Given the description of an element on the screen output the (x, y) to click on. 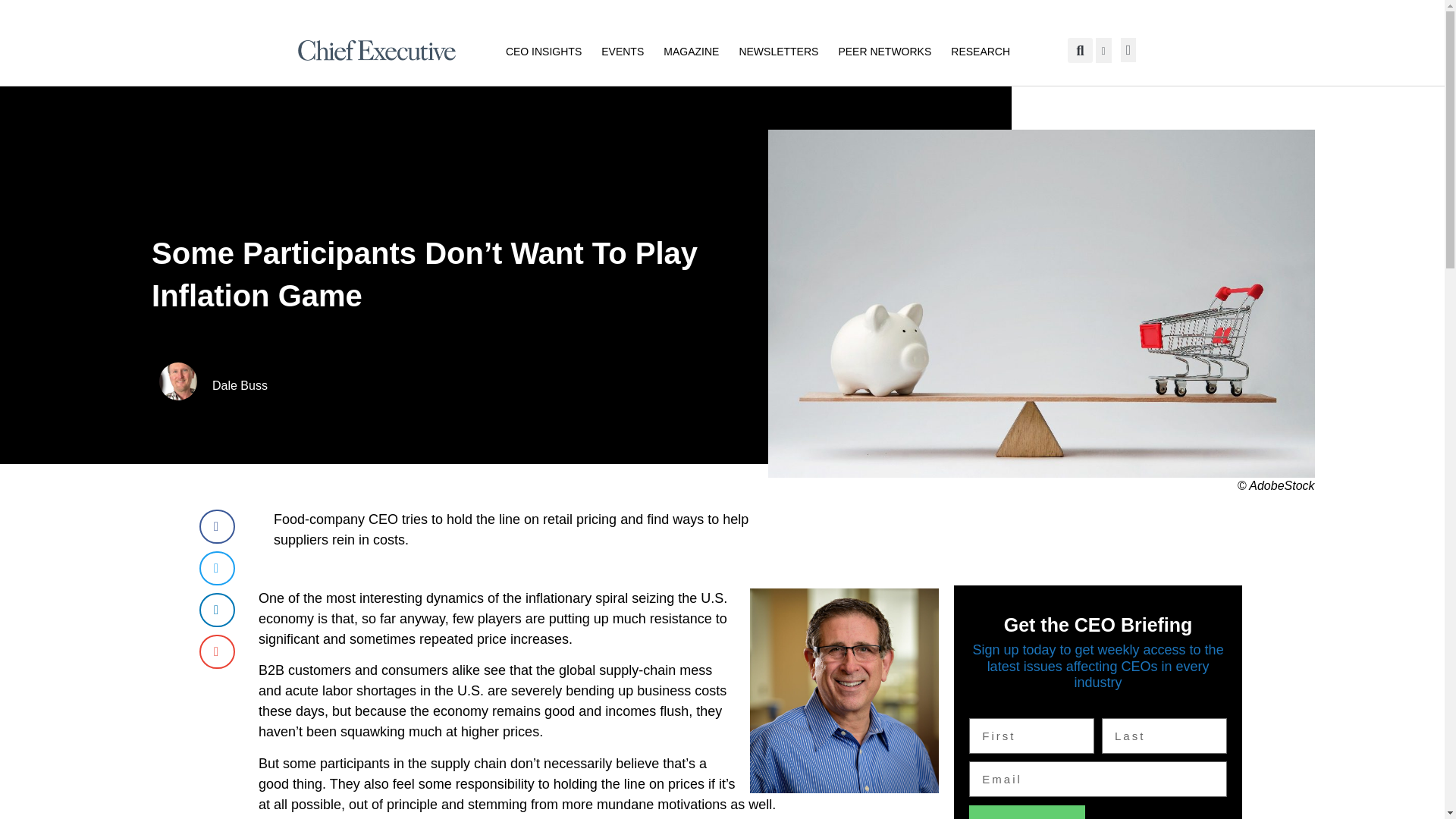
MAGAZINE (691, 50)
NEWSLETTERS (778, 50)
PEER NETWORKS (884, 50)
CEO INSIGHTS (543, 50)
RESEARCH (980, 50)
EVENTS (622, 50)
